Given the description of an element on the screen output the (x, y) to click on. 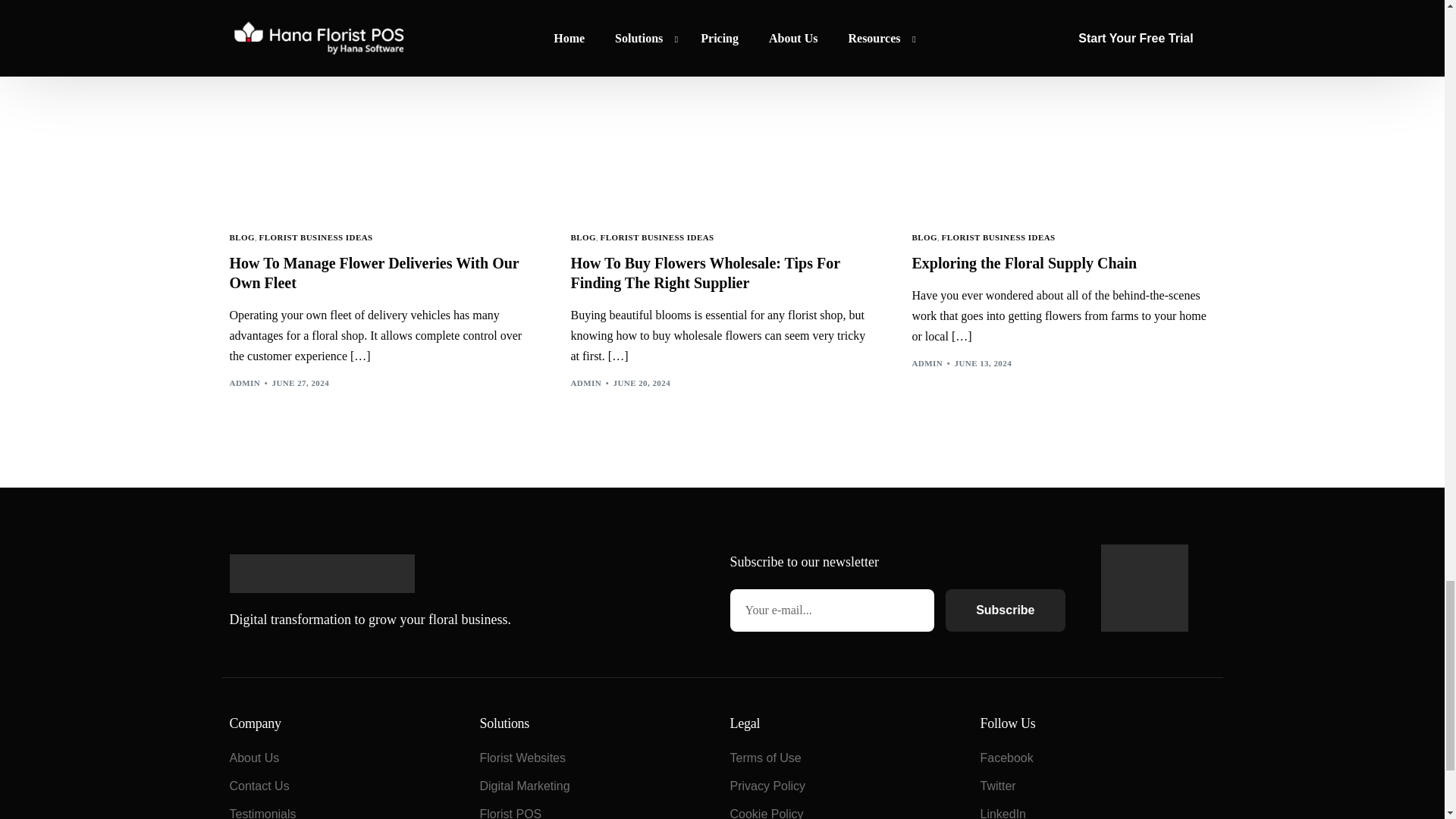
View Florist Business Ideas posts (656, 237)
Posts by admin (244, 382)
View Blog posts (582, 237)
View Florist Business Ideas posts (315, 237)
View Blog posts (241, 237)
